Given the description of an element on the screen output the (x, y) to click on. 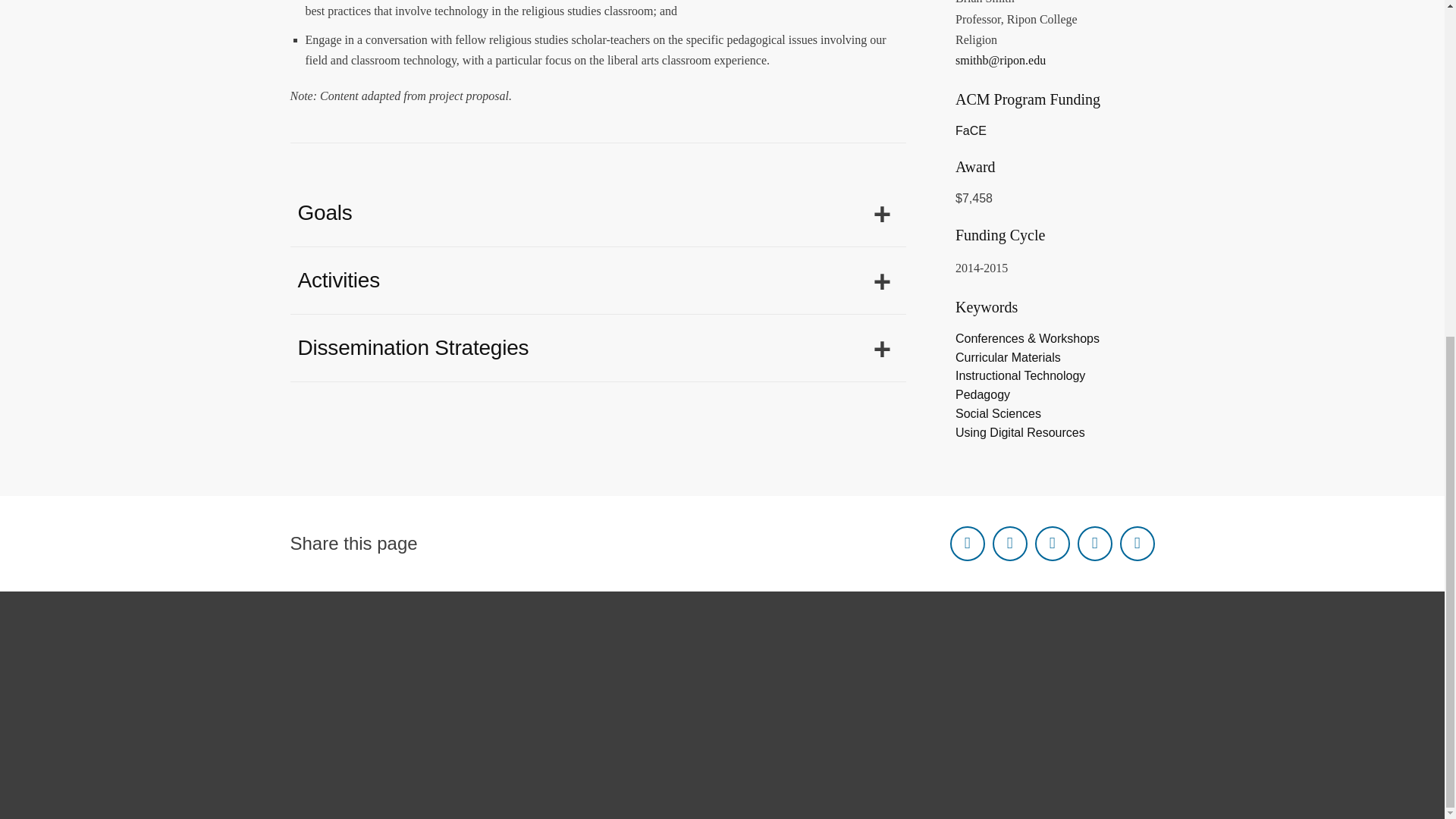
Share on Facebook (966, 543)
Share on LinkedIn (1050, 543)
Share on Twitter (1008, 543)
